Given the description of an element on the screen output the (x, y) to click on. 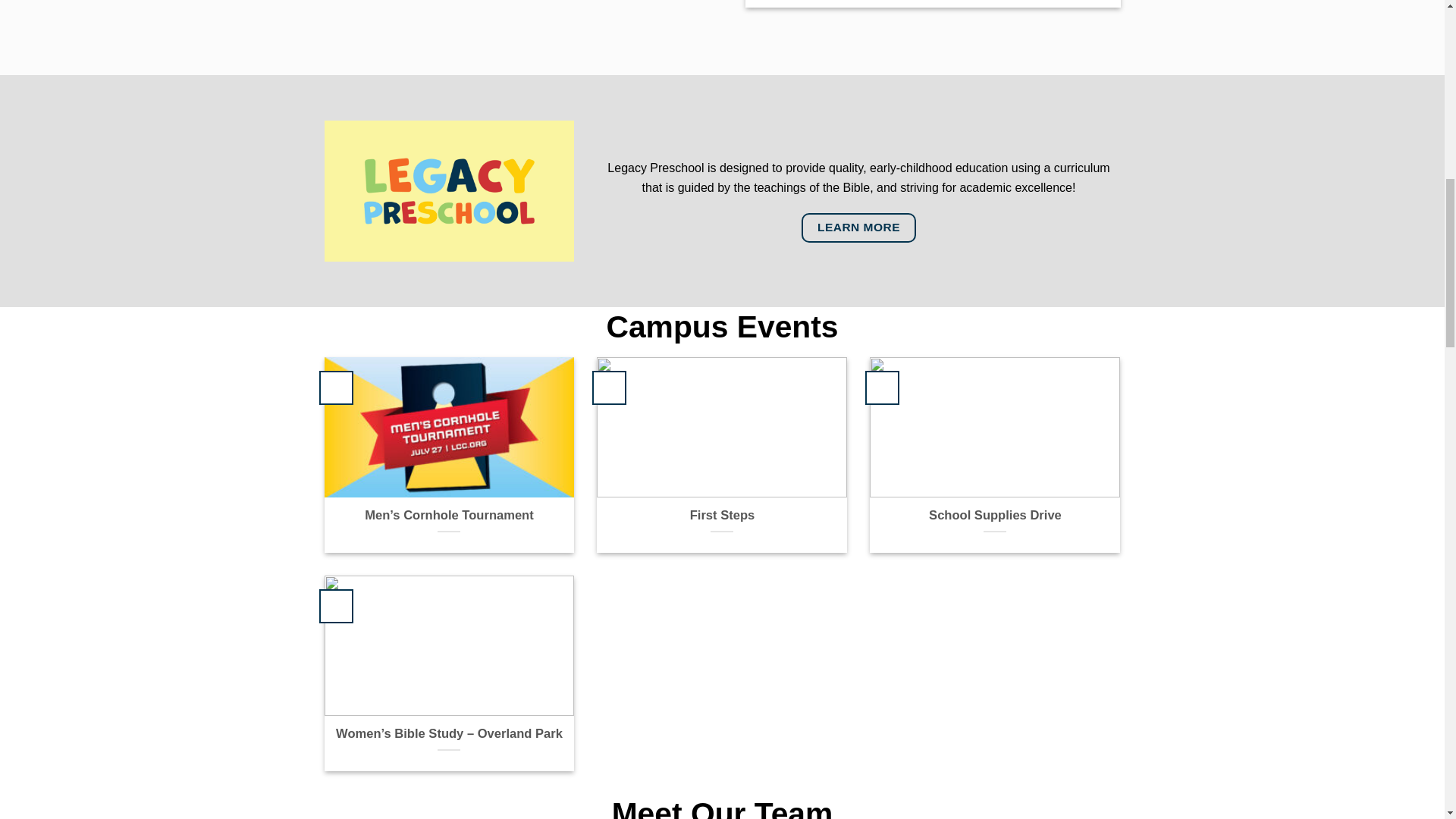
LEARN MORE (858, 227)
First Steps (722, 515)
School Supplies Drive (994, 515)
